Given the description of an element on the screen output the (x, y) to click on. 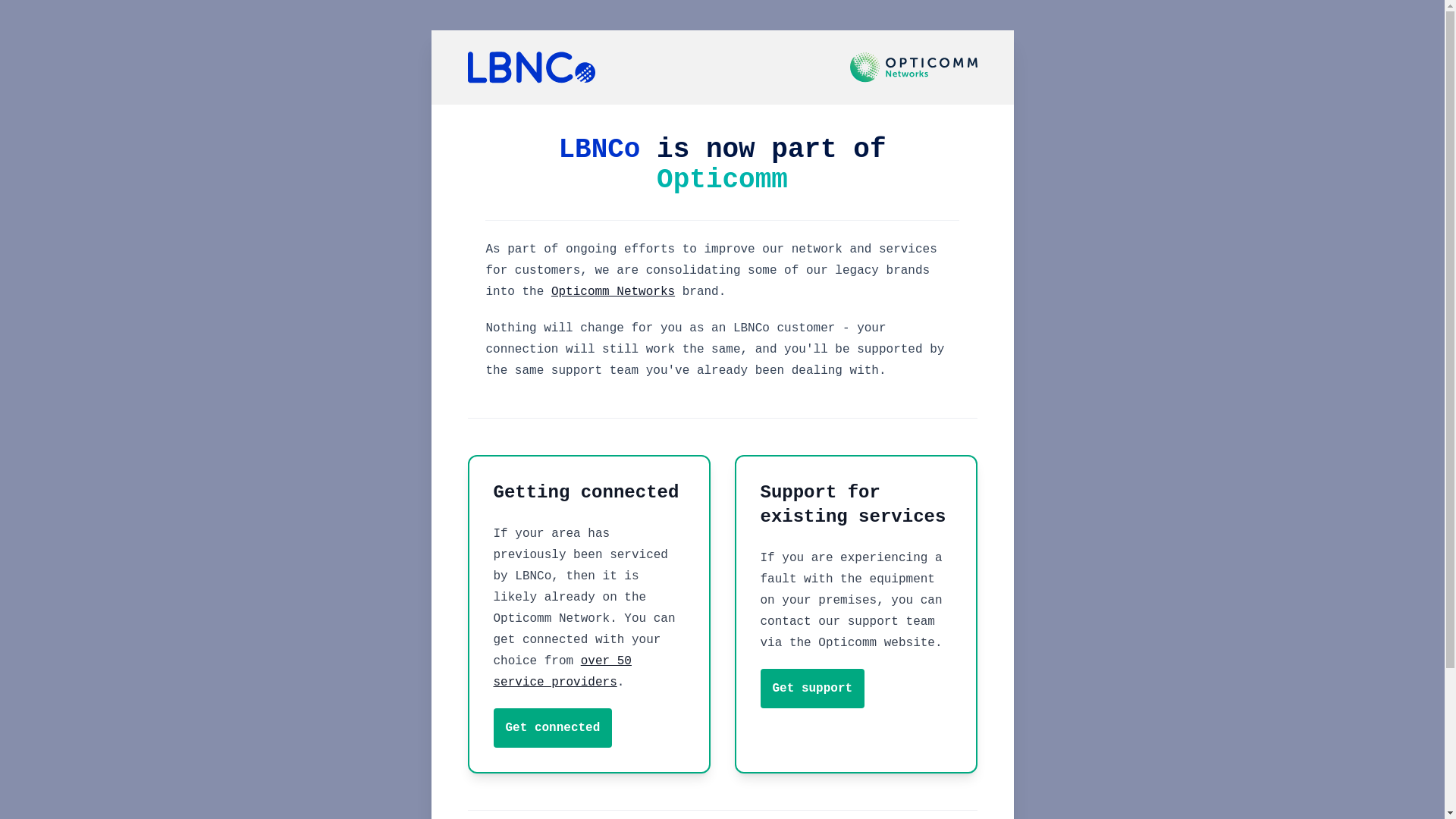
Get support Element type: text (811, 688)
over 50 service providers Element type: text (561, 671)
Opticomm Networks Element type: text (612, 291)
Get connected Element type: text (551, 727)
